Given the description of an element on the screen output the (x, y) to click on. 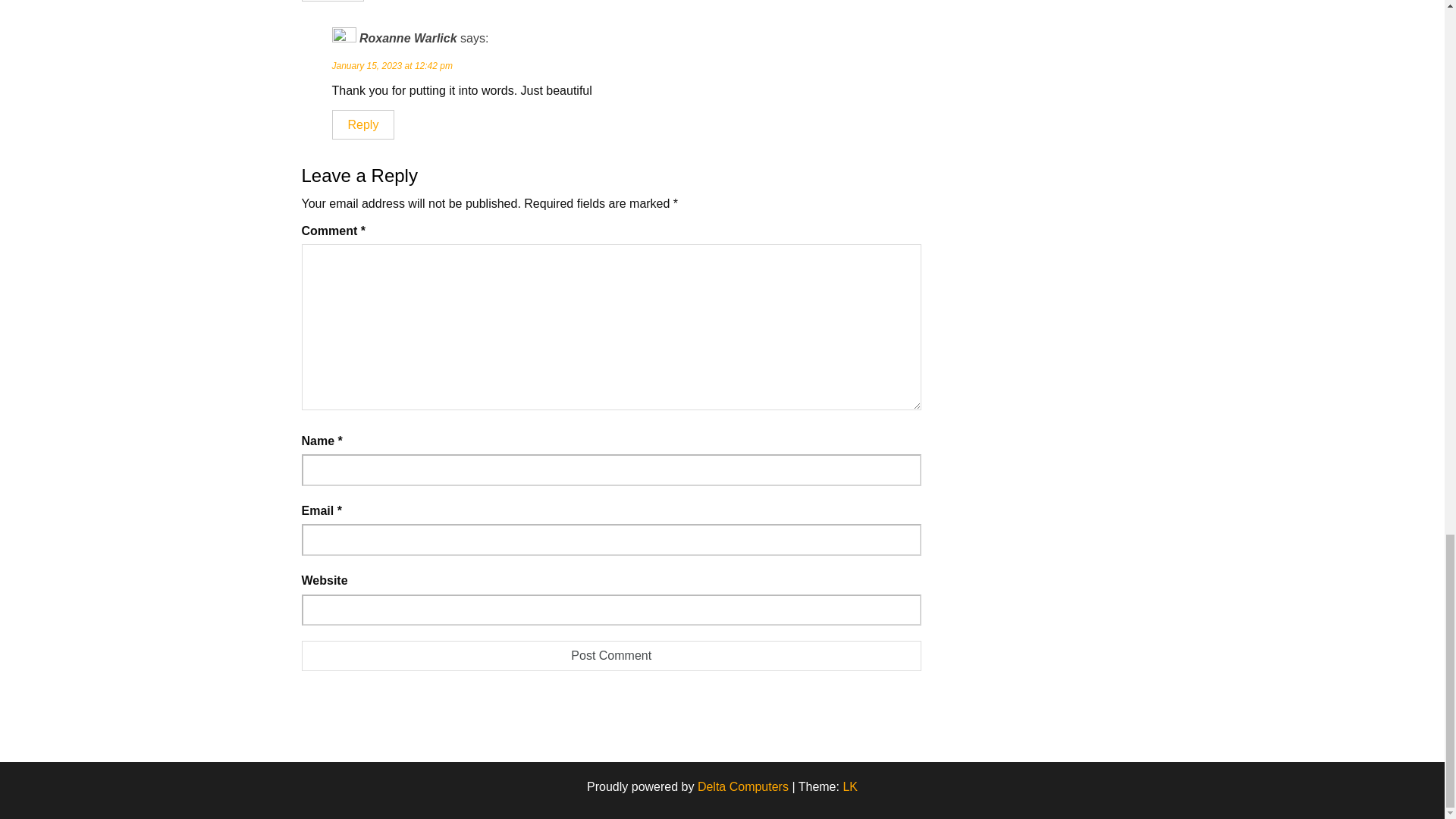
Reply (333, 0)
Post Comment (611, 655)
Delta Computers (743, 786)
January 15, 2023 at 12:42 pm (391, 65)
Post Comment (611, 655)
LK (850, 786)
Reply (362, 124)
